Given the description of an element on the screen output the (x, y) to click on. 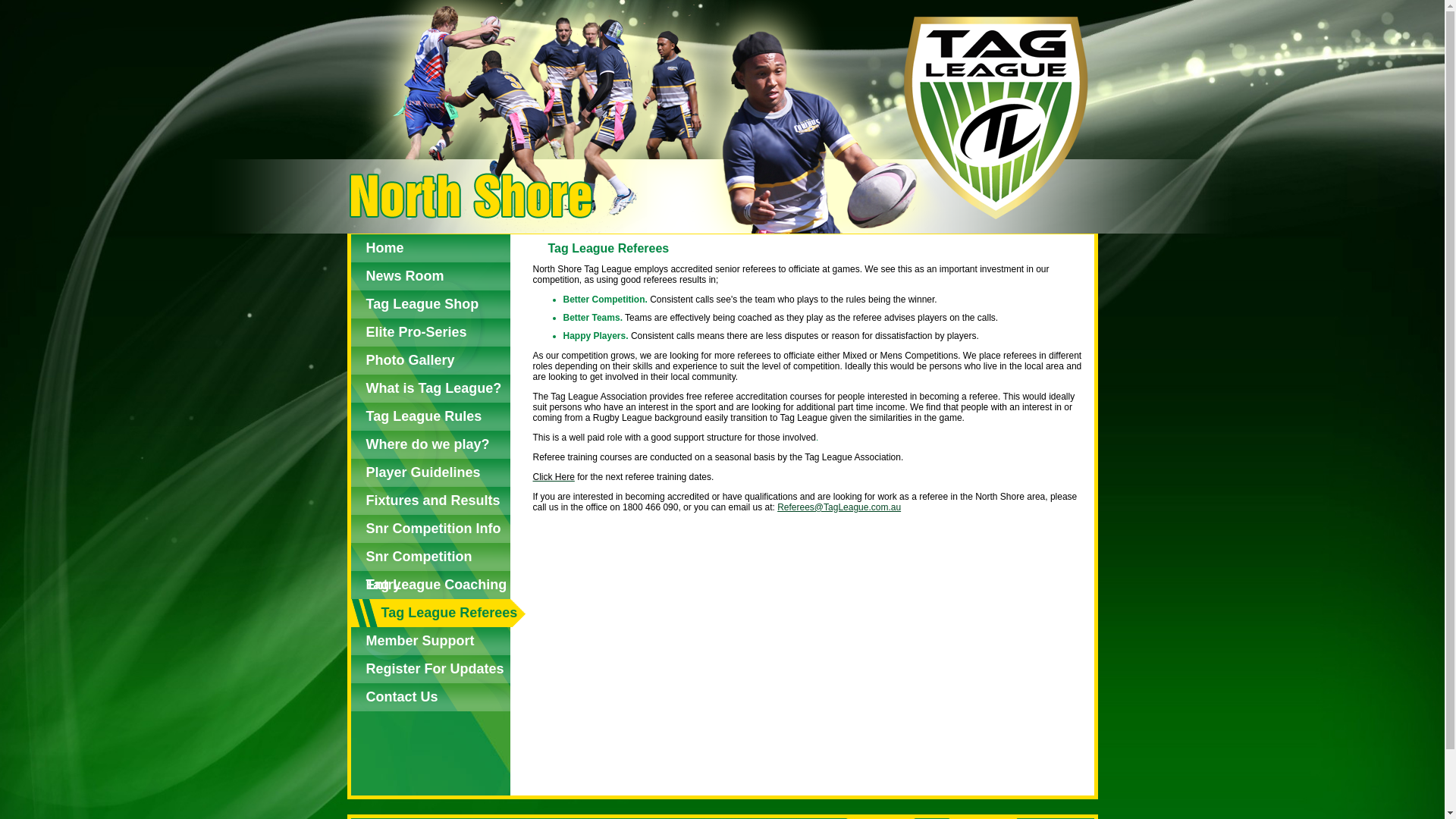
Northshore Tag League Element type: hover (720, 116)
Home Element type: text (429, 248)
Tag League Coaching Element type: text (429, 585)
Register For Updates Element type: text (429, 669)
Member Support Element type: text (429, 641)
Referees@TagLeague.com.au Element type: text (838, 507)
Tag League Rules Element type: text (429, 416)
Where do we play? Element type: text (429, 444)
Fixtures and Results Element type: text (429, 500)
Photo Gallery Element type: text (429, 360)
Snr Competition Info Element type: text (429, 528)
What is Tag League? Element type: text (429, 388)
Elite Pro-Series Element type: text (429, 332)
Tag League Shop Element type: text (429, 304)
News Room Element type: text (429, 276)
Player Guidelines Element type: text (429, 472)
Tag League Referees Element type: text (437, 613)
Contact Us Element type: text (429, 697)
Snr Competition Entry Element type: text (429, 556)
Click Here Element type: text (553, 476)
